Given the description of an element on the screen output the (x, y) to click on. 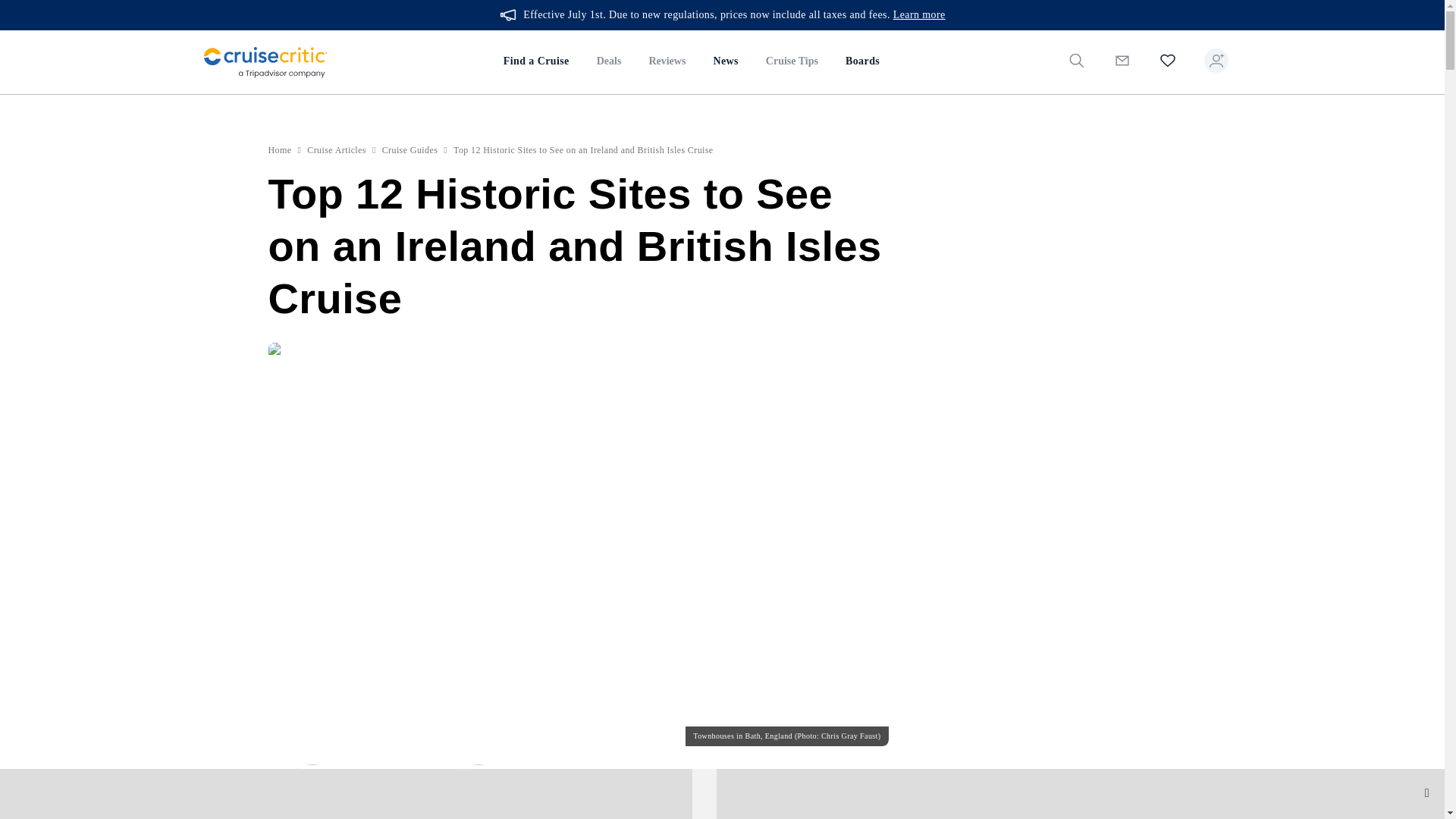
Boards (861, 62)
Cruise Guides (409, 150)
Cruise Tips (791, 62)
Learn more (918, 15)
Find a Cruise (536, 62)
Cruise Articles (336, 150)
Home (279, 150)
Reviews (666, 62)
